Given the description of an element on the screen output the (x, y) to click on. 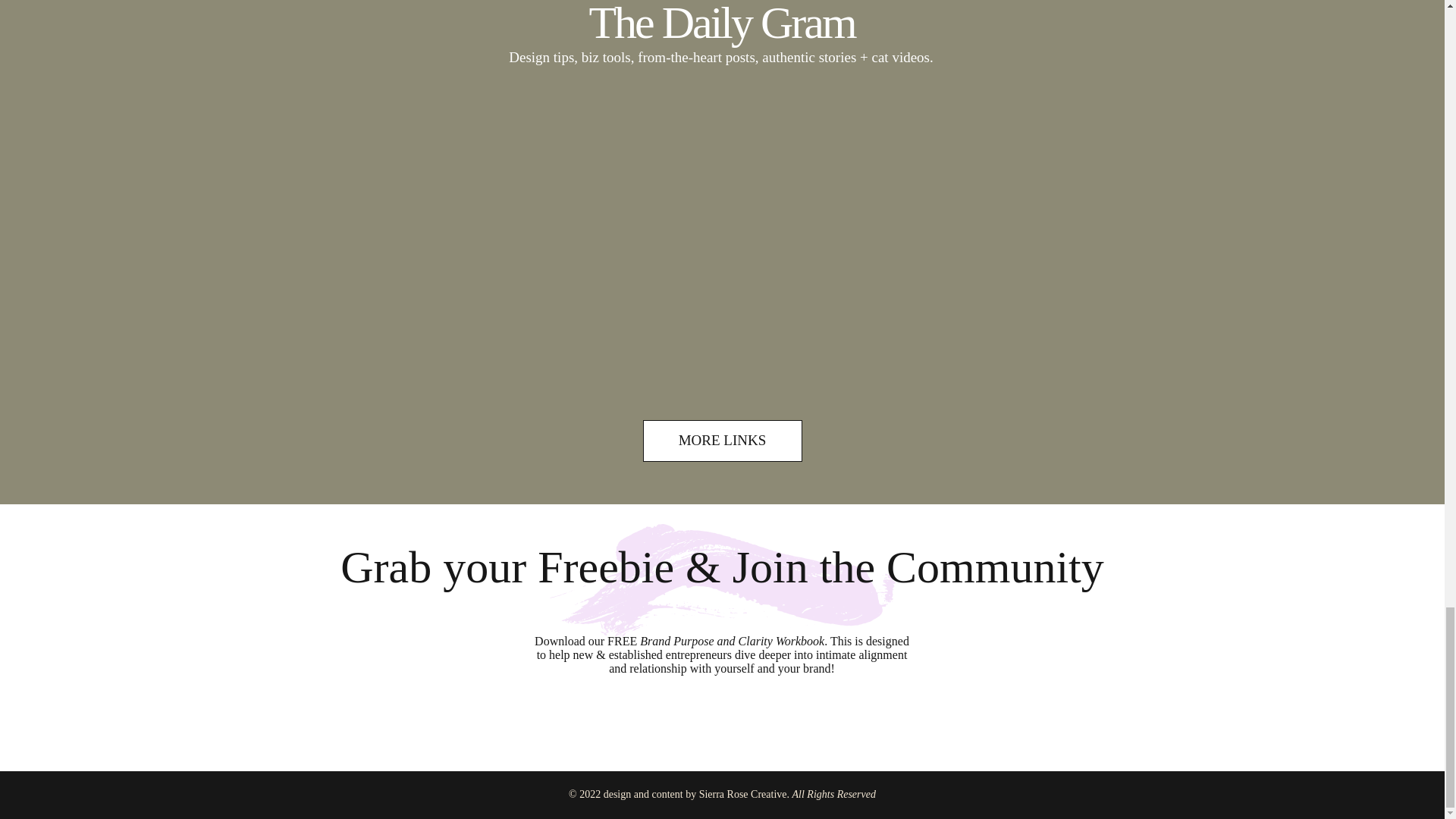
MORE LINKS (722, 440)
